Given the description of an element on the screen output the (x, y) to click on. 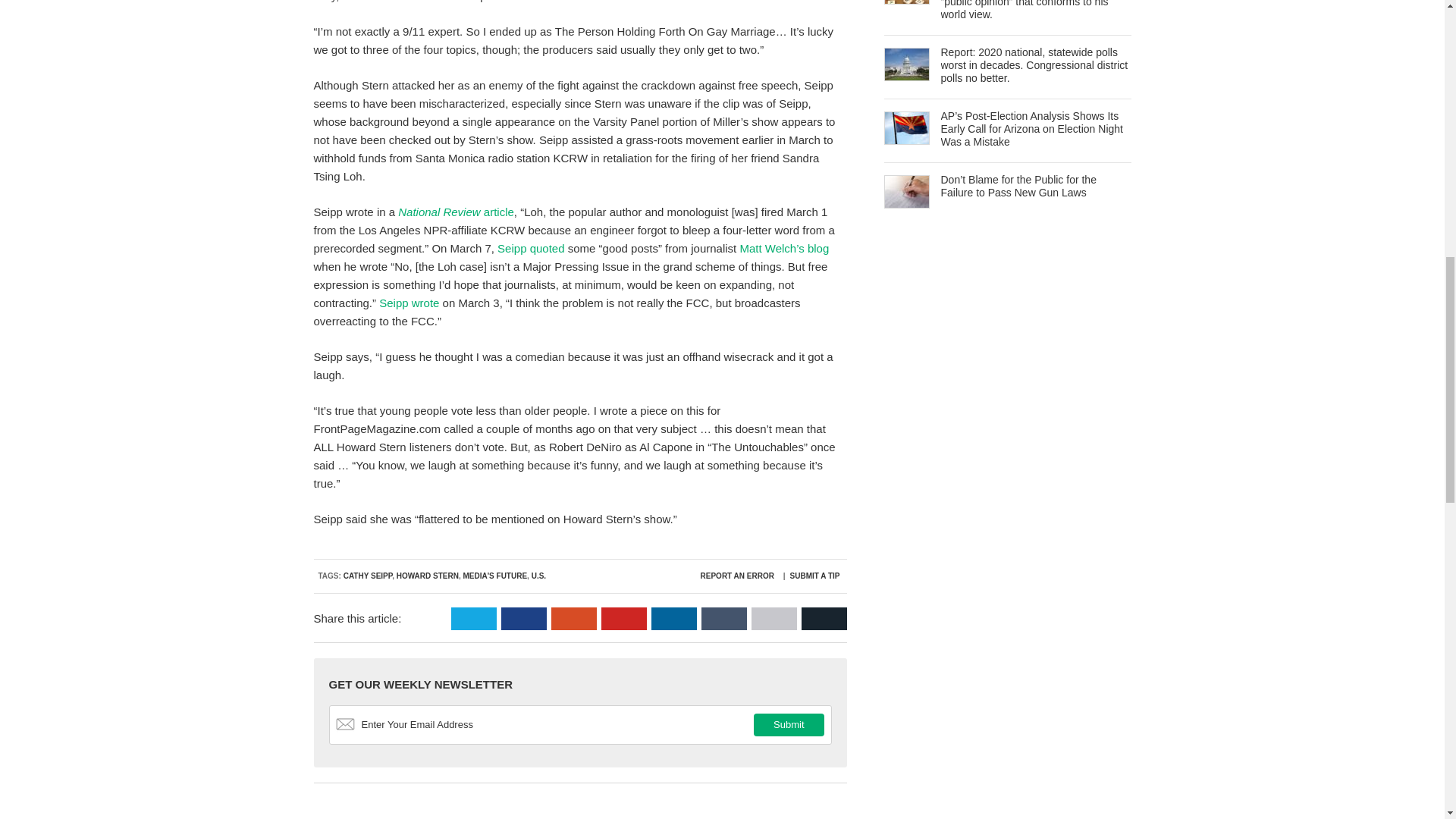
National Review article (455, 211)
Seipp wrote (408, 302)
Matt Welch blog (783, 247)
Seipp quote (530, 247)
Submit (789, 724)
